Given the description of an element on the screen output the (x, y) to click on. 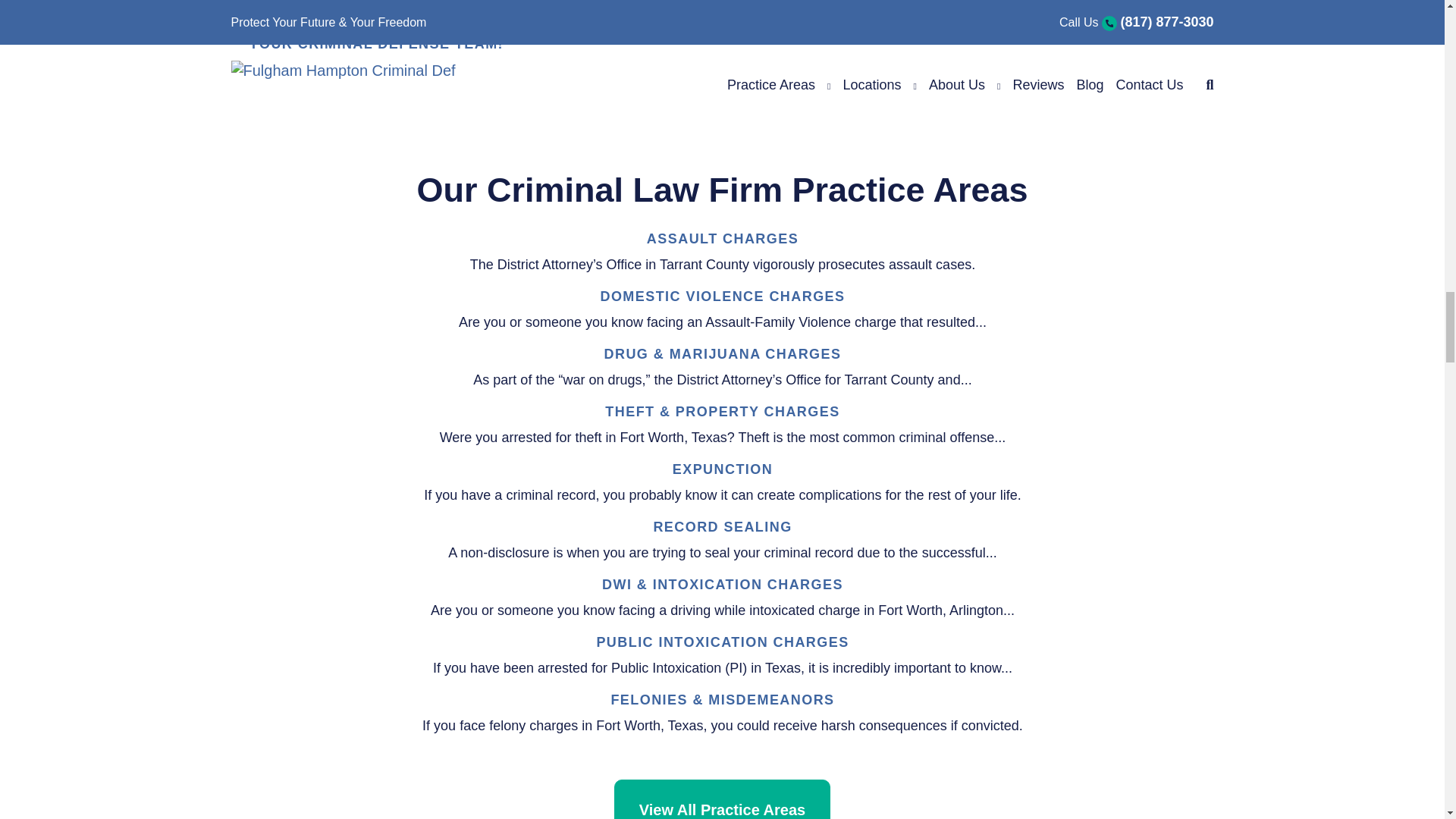
ASSAULT CHARGES (721, 238)
DOMESTIC VIOLENCE CHARGES (721, 296)
